Given the description of an element on the screen output the (x, y) to click on. 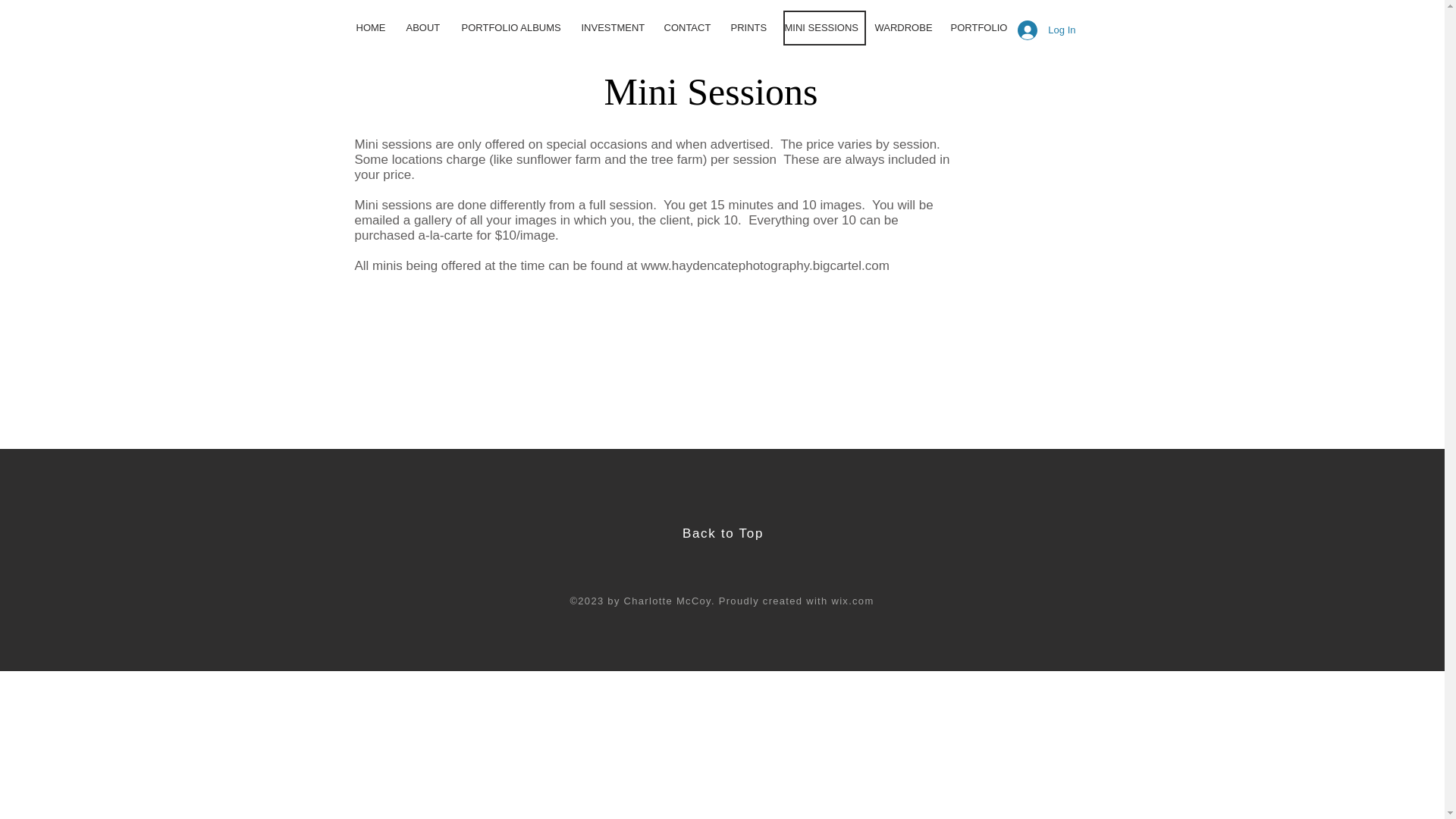
HOME (376, 27)
PRINTS (752, 27)
wix.com (852, 600)
INVESTMENT (616, 27)
Back to Top (722, 533)
PORTFOLIO (982, 27)
www.haydencatephotography.bigcartel.com (764, 265)
ABOUT (428, 27)
MINI SESSIONS (823, 27)
CONTACT (692, 27)
PORTFOLIO ALBUMS (516, 27)
Log In (1046, 30)
WARDROBE (907, 27)
